Given the description of an element on the screen output the (x, y) to click on. 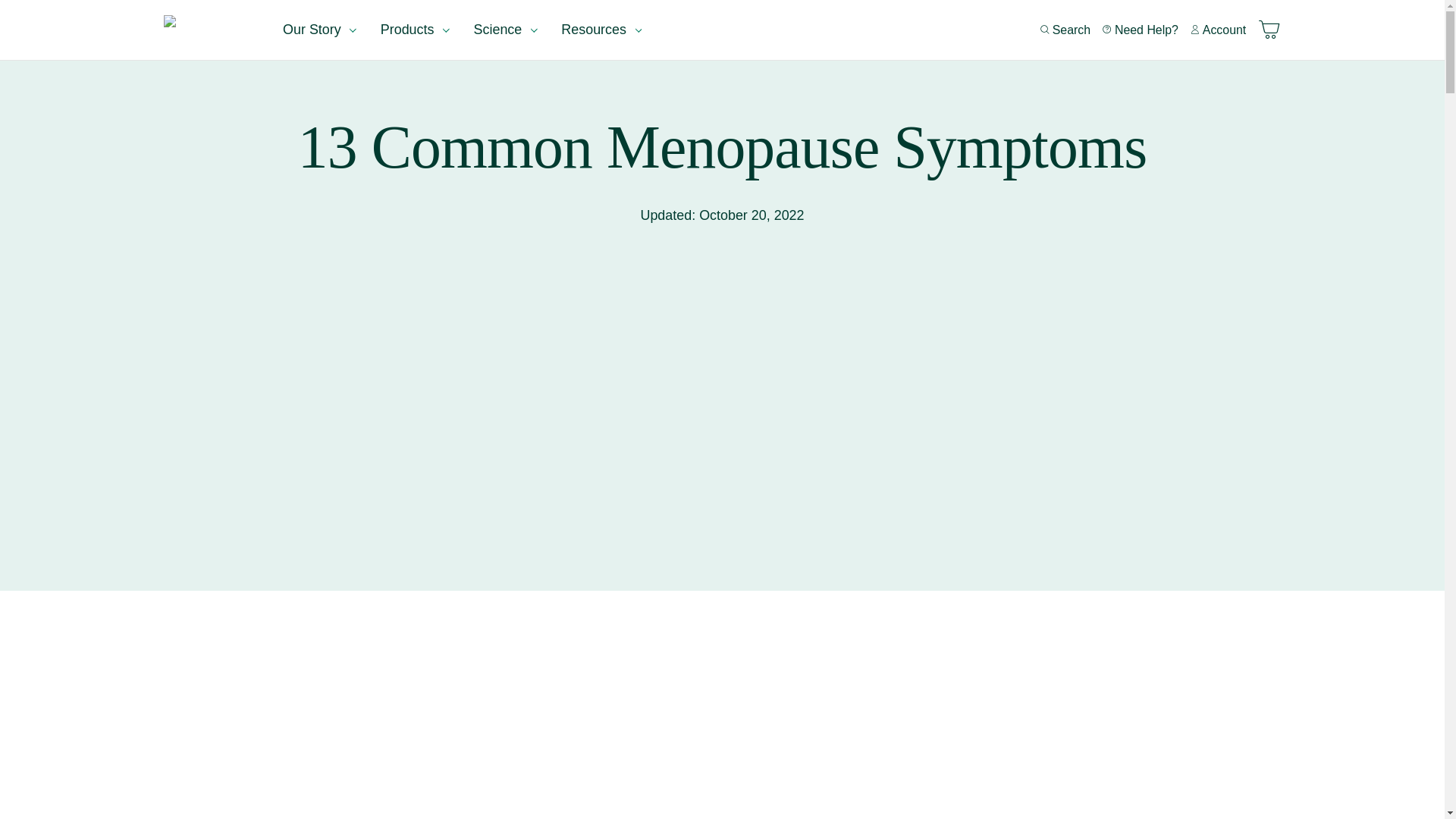
Our Story (319, 30)
Products (414, 30)
Science (505, 30)
